Given the description of an element on the screen output the (x, y) to click on. 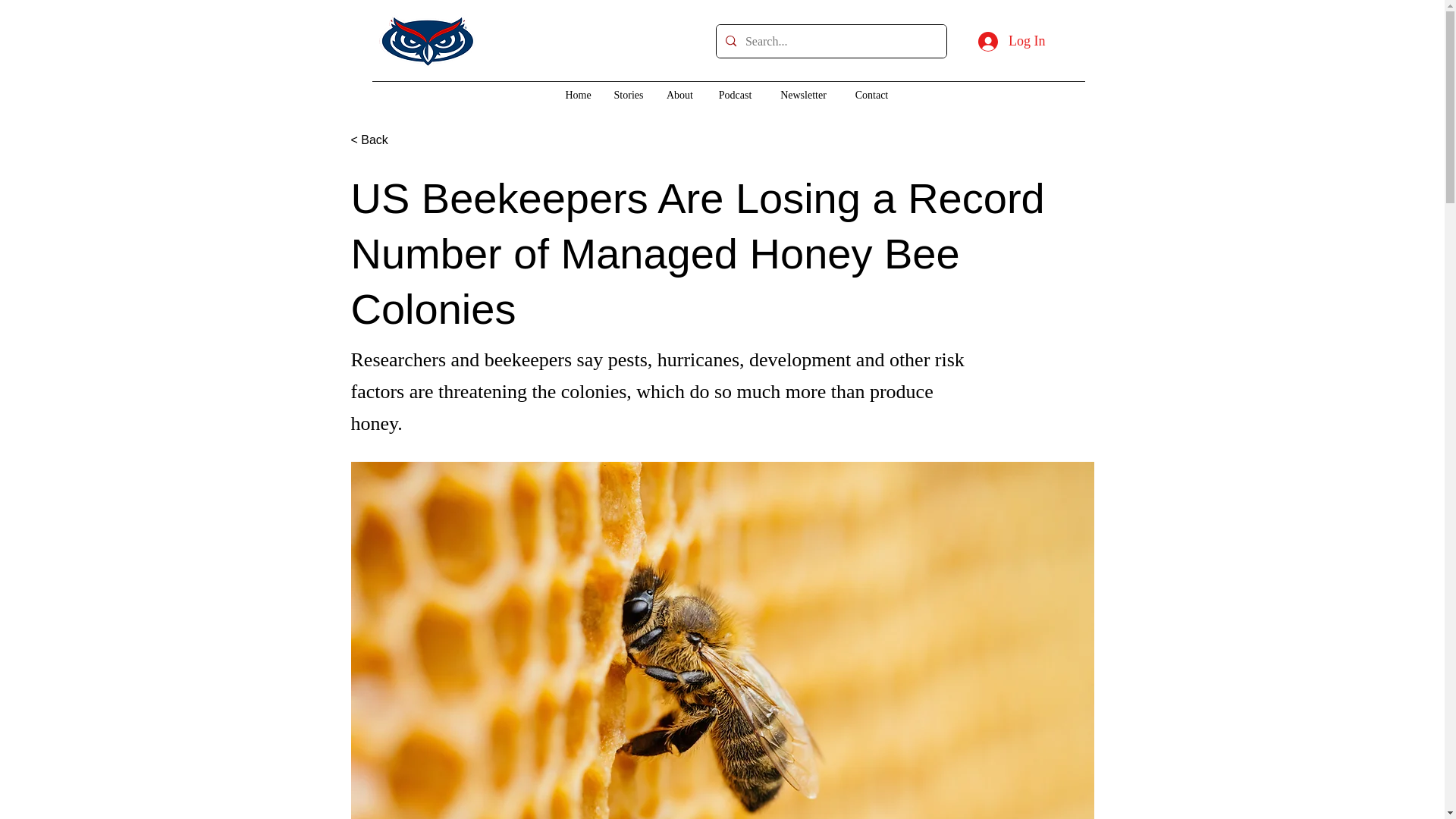
About (679, 95)
Newsletter (803, 95)
Contact (871, 95)
Home (578, 95)
Stories (628, 95)
Log In (1012, 41)
Podcast (734, 95)
